Given the description of an element on the screen output the (x, y) to click on. 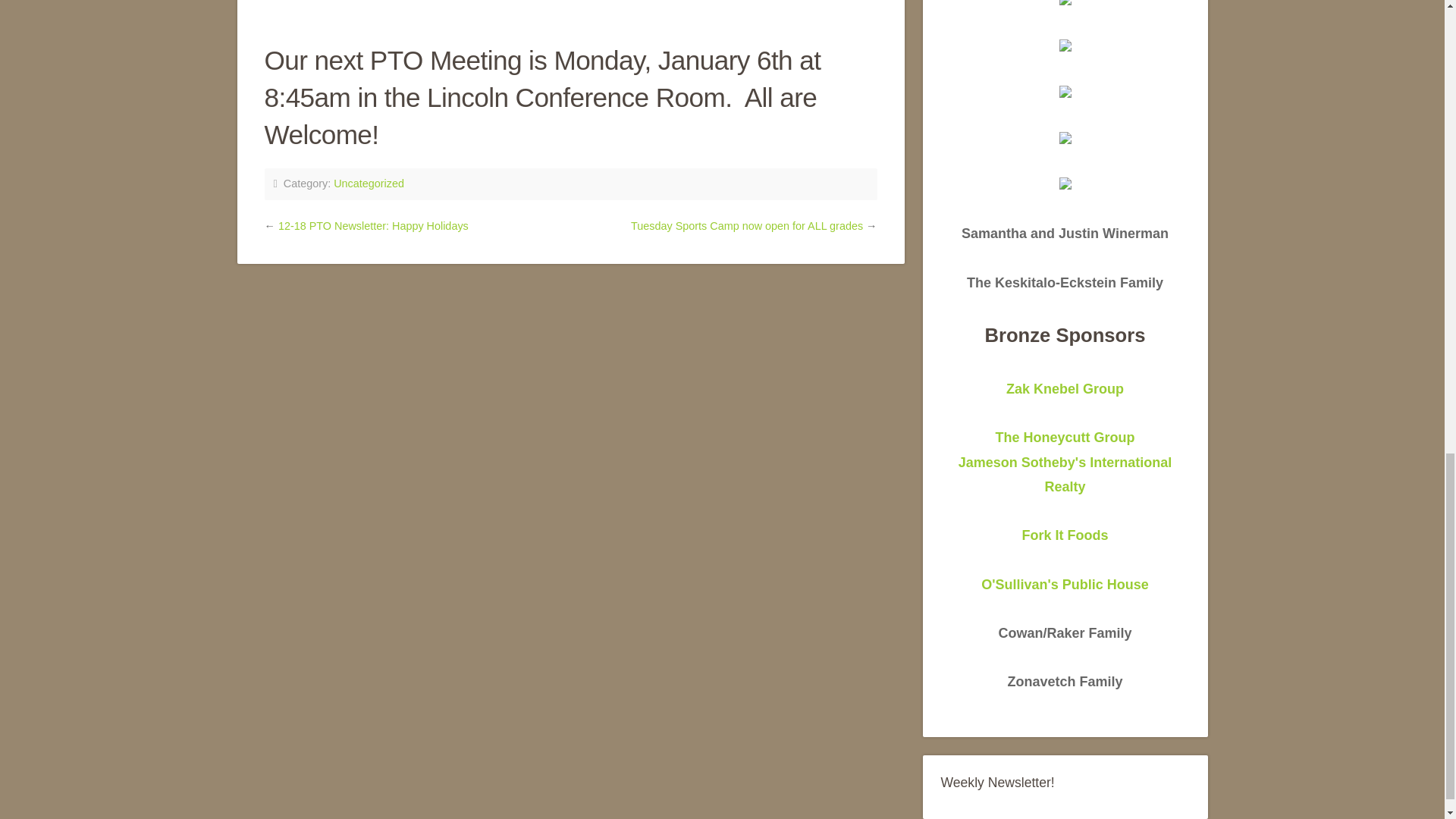
Tuesday Sports Camp now open for ALL grades (746, 225)
Fork It Foods (1065, 534)
Zak Knebel Group (1065, 388)
Uncategorized (368, 183)
O'Sullivan's Public House (1065, 461)
12-18 PTO Newsletter: Happy Holidays (1064, 584)
